Given the description of an element on the screen output the (x, y) to click on. 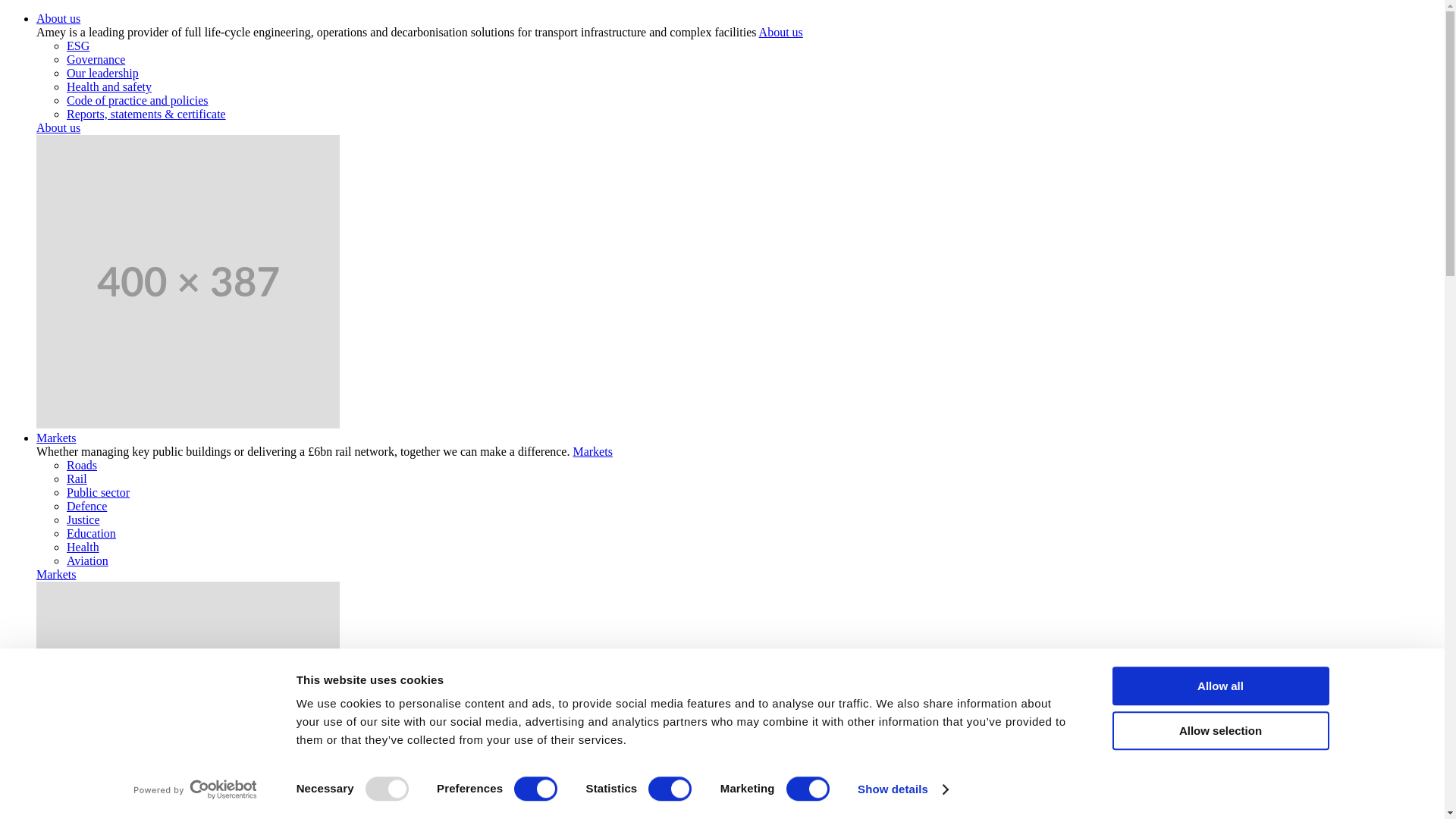
Show details (902, 789)
